Given the description of an element on the screen output the (x, y) to click on. 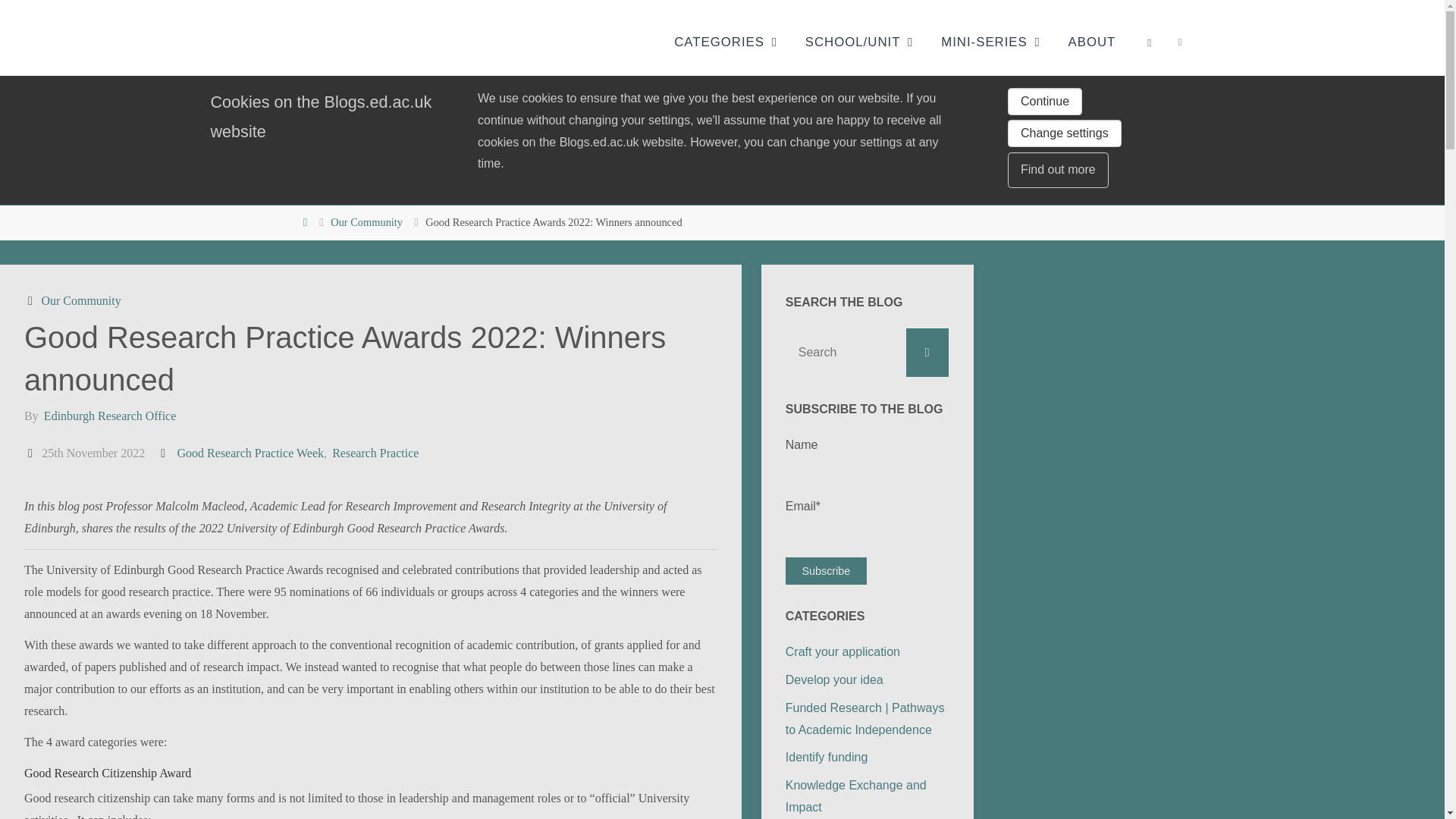
View all posts by Edinburgh Research Office (109, 415)
Find out more (1057, 170)
CATEGORIES (718, 41)
Subscribe (826, 570)
Change settings (1064, 133)
Date (31, 452)
Continue (1044, 101)
Tagged (164, 452)
Categories (31, 300)
